Given the description of an element on the screen output the (x, y) to click on. 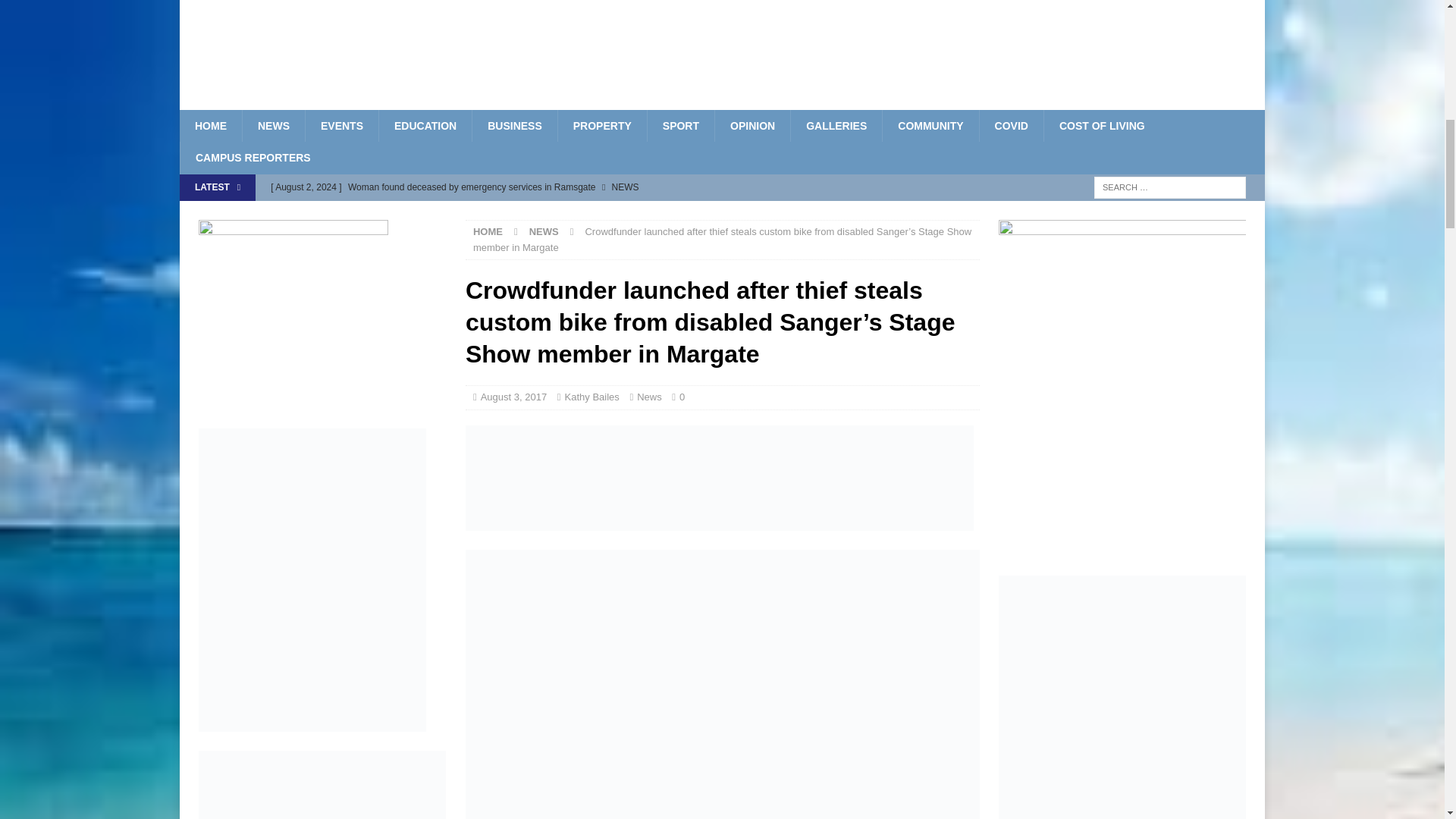
BUSINESS (514, 125)
SPORT (680, 125)
PROPERTY (601, 125)
COMMUNITY (930, 125)
EDUCATION (424, 125)
COVID (1010, 125)
CAMPUS REPORTERS (252, 157)
OPINION (752, 125)
EVENTS (341, 125)
COST OF LIVING (1101, 125)
